Given the description of an element on the screen output the (x, y) to click on. 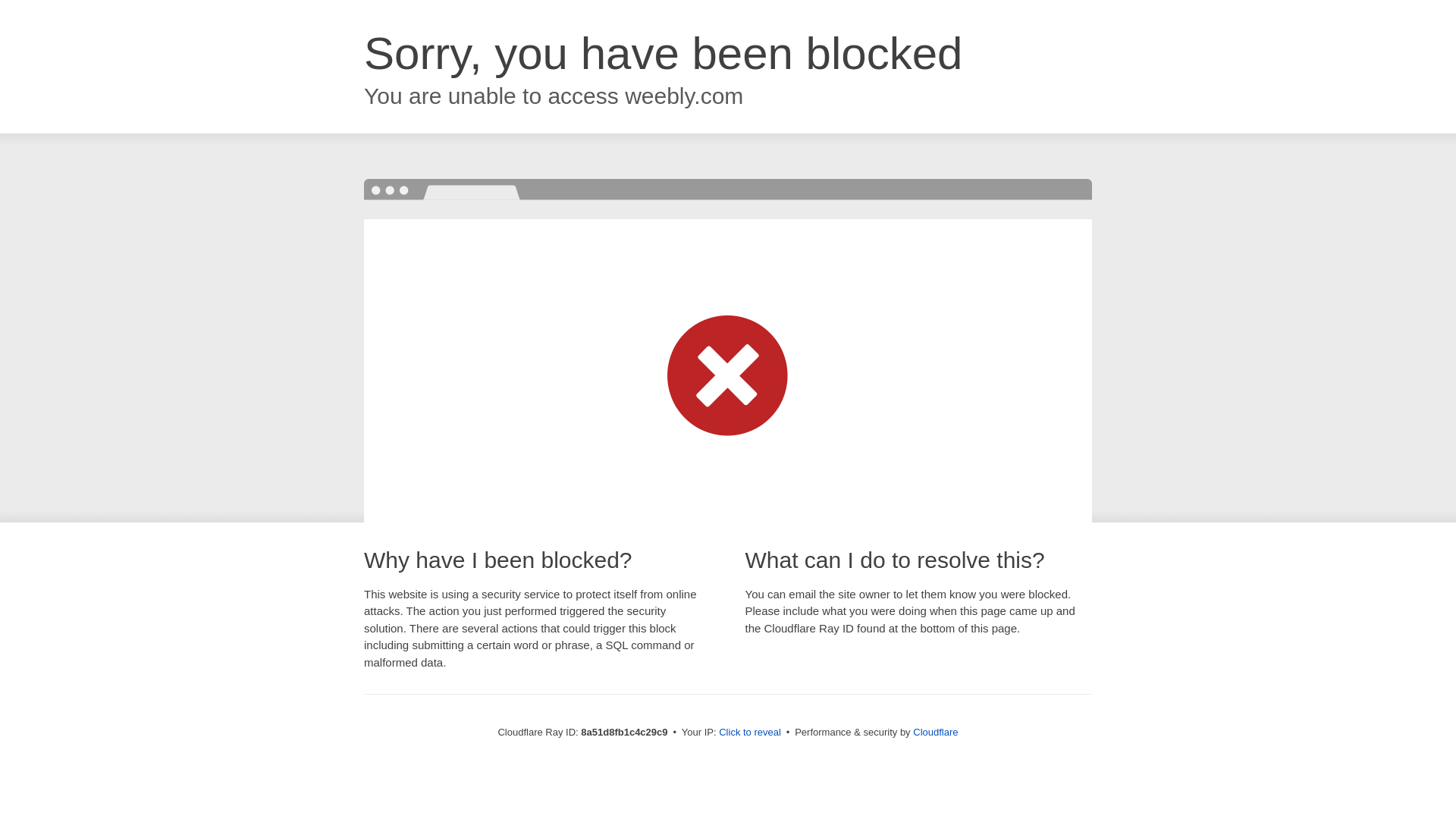
Cloudflare (935, 731)
Click to reveal (749, 732)
